Given the description of an element on the screen output the (x, y) to click on. 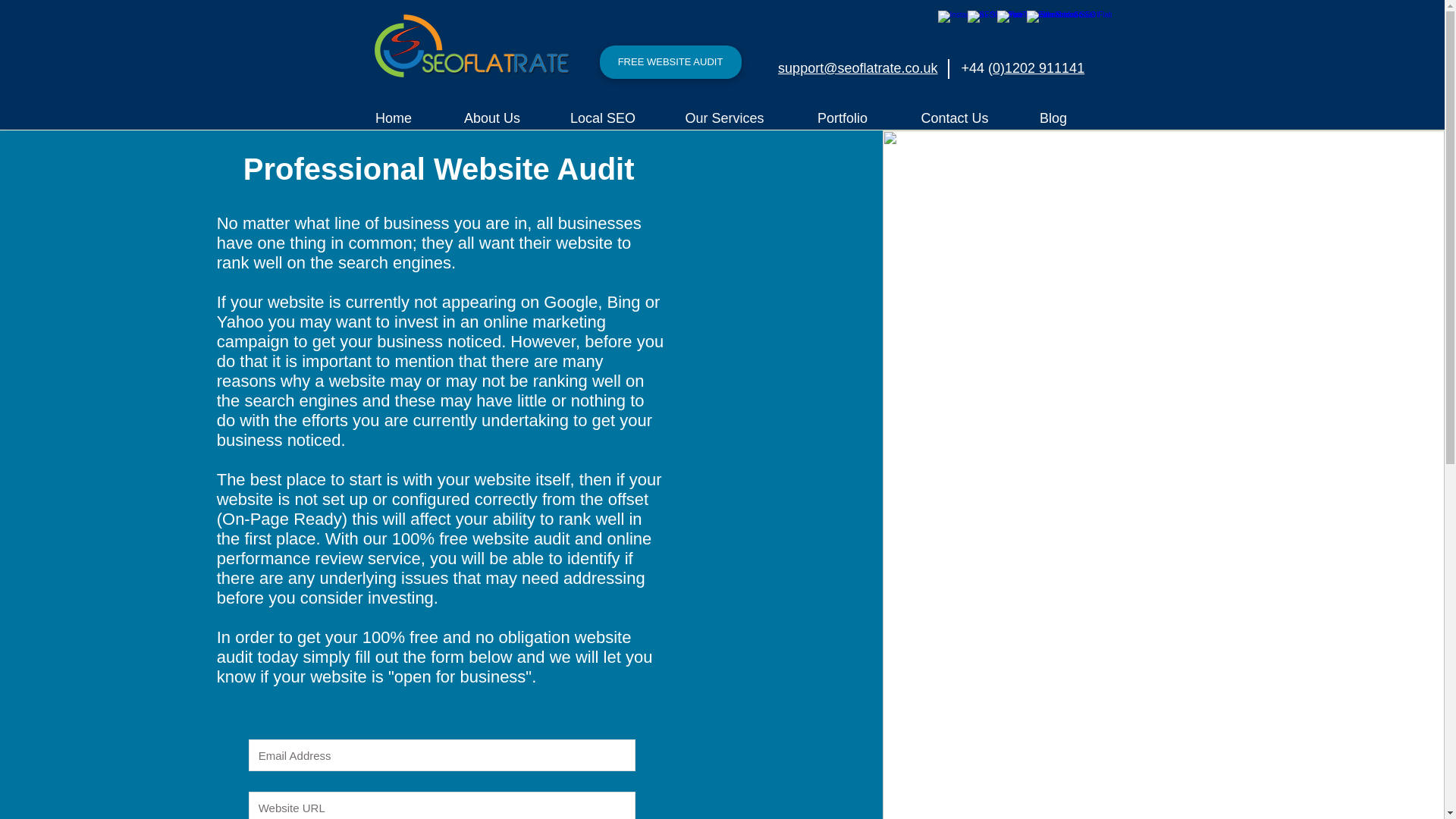
Local SEO (602, 117)
Blog (1053, 117)
About Us (492, 117)
Home (393, 117)
Portfolio (842, 117)
Contact Us (954, 117)
Our Services (724, 117)
FREE WEBSITE AUDIT (669, 61)
